Given the description of an element on the screen output the (x, y) to click on. 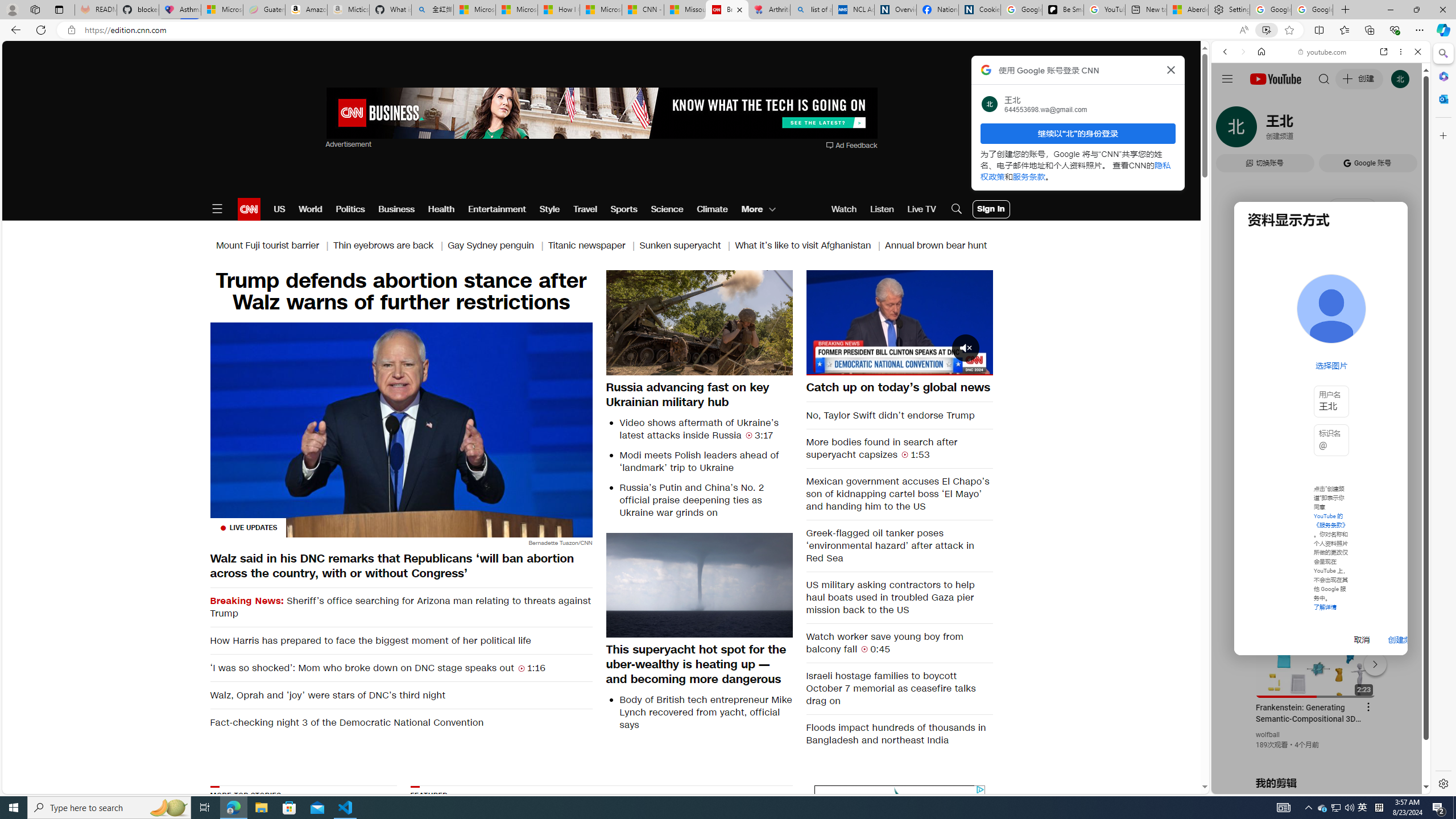
Class: container__video-duration-icon (864, 648)
YouTube - YouTube (1315, 560)
wolfball (1268, 734)
